Given the description of an element on the screen output the (x, y) to click on. 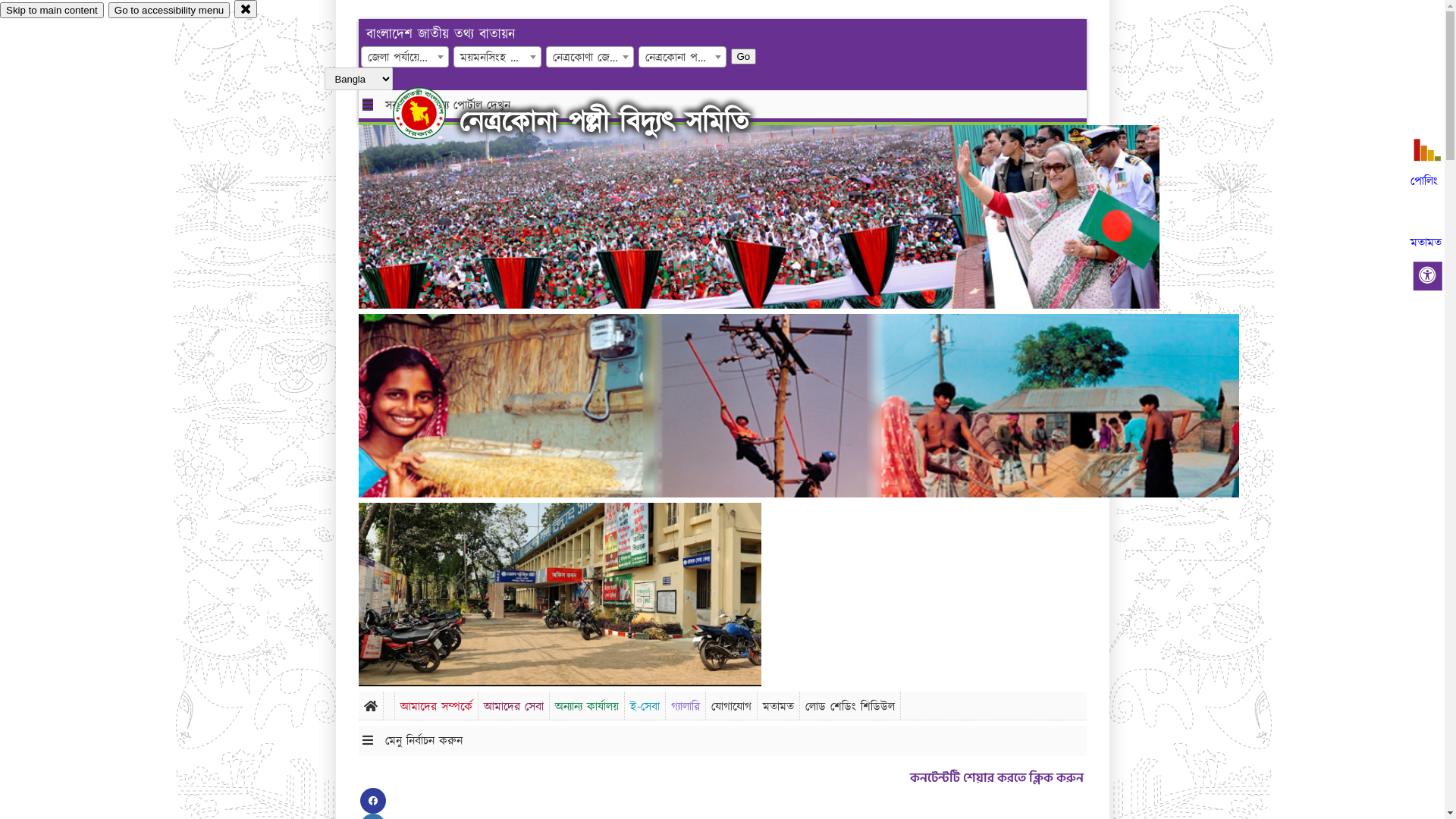
Go Element type: text (743, 56)
Go to accessibility menu Element type: text (168, 10)

                
             Element type: hover (431, 112)
close Element type: hover (245, 9)
Skip to main content Element type: text (51, 10)
